Given the description of an element on the screen output the (x, y) to click on. 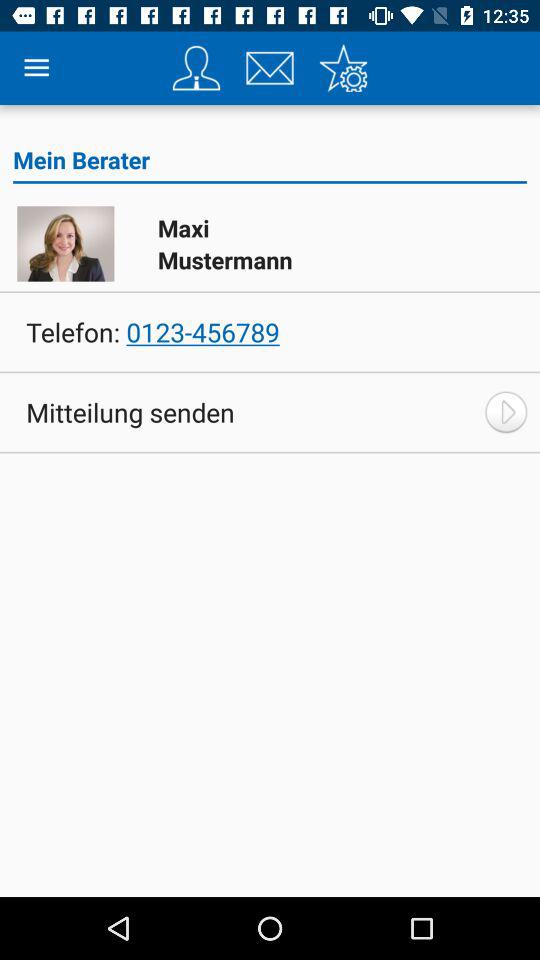
tap item above mein berater icon (196, 67)
